Given the description of an element on the screen output the (x, y) to click on. 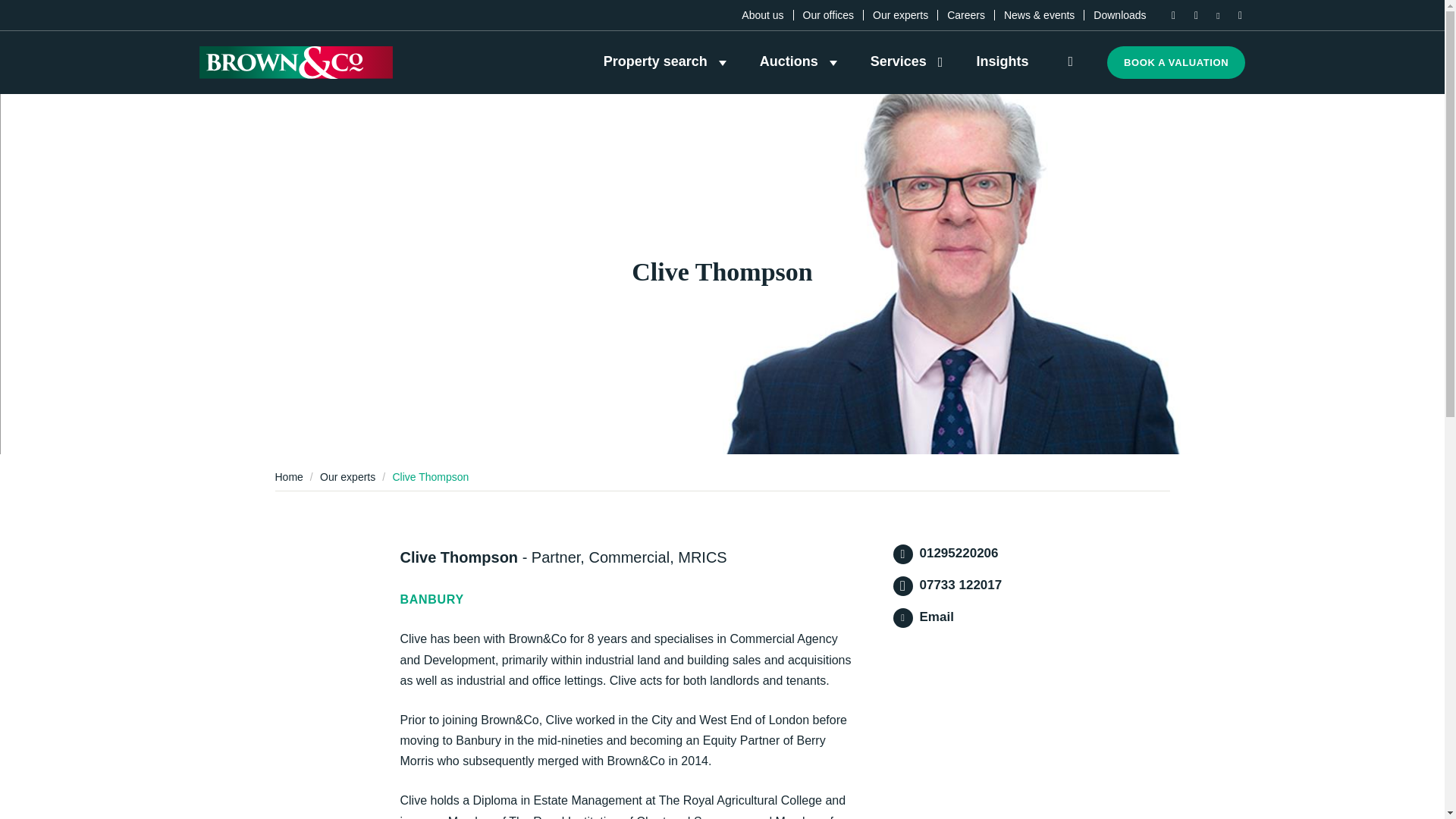
Services (906, 61)
Insights (1001, 61)
Insights (1001, 61)
Downloads (1119, 15)
Services (906, 61)
About us (762, 15)
Auctions (798, 61)
Auctions (798, 61)
BOOK A VALUATION (1175, 61)
Our offices (828, 15)
Property search (665, 61)
Property search (665, 61)
Our experts (900, 15)
Careers (966, 15)
